Given the description of an element on the screen output the (x, y) to click on. 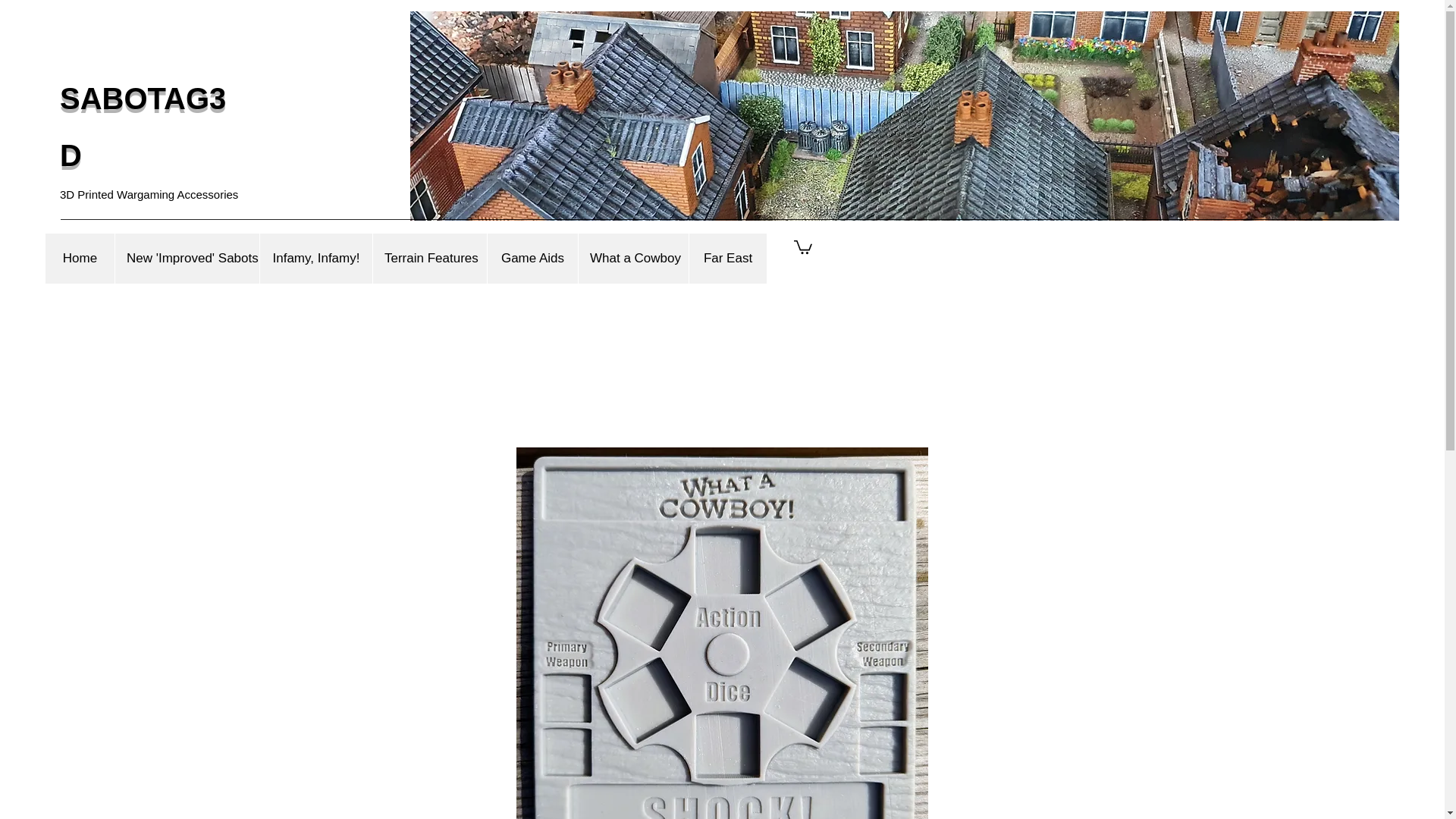
Far East (727, 258)
What a Cowboy (633, 258)
Game Aids (532, 258)
Terrain Features (429, 258)
Infamy, Infamy! (315, 258)
Home (80, 258)
